Given the description of an element on the screen output the (x, y) to click on. 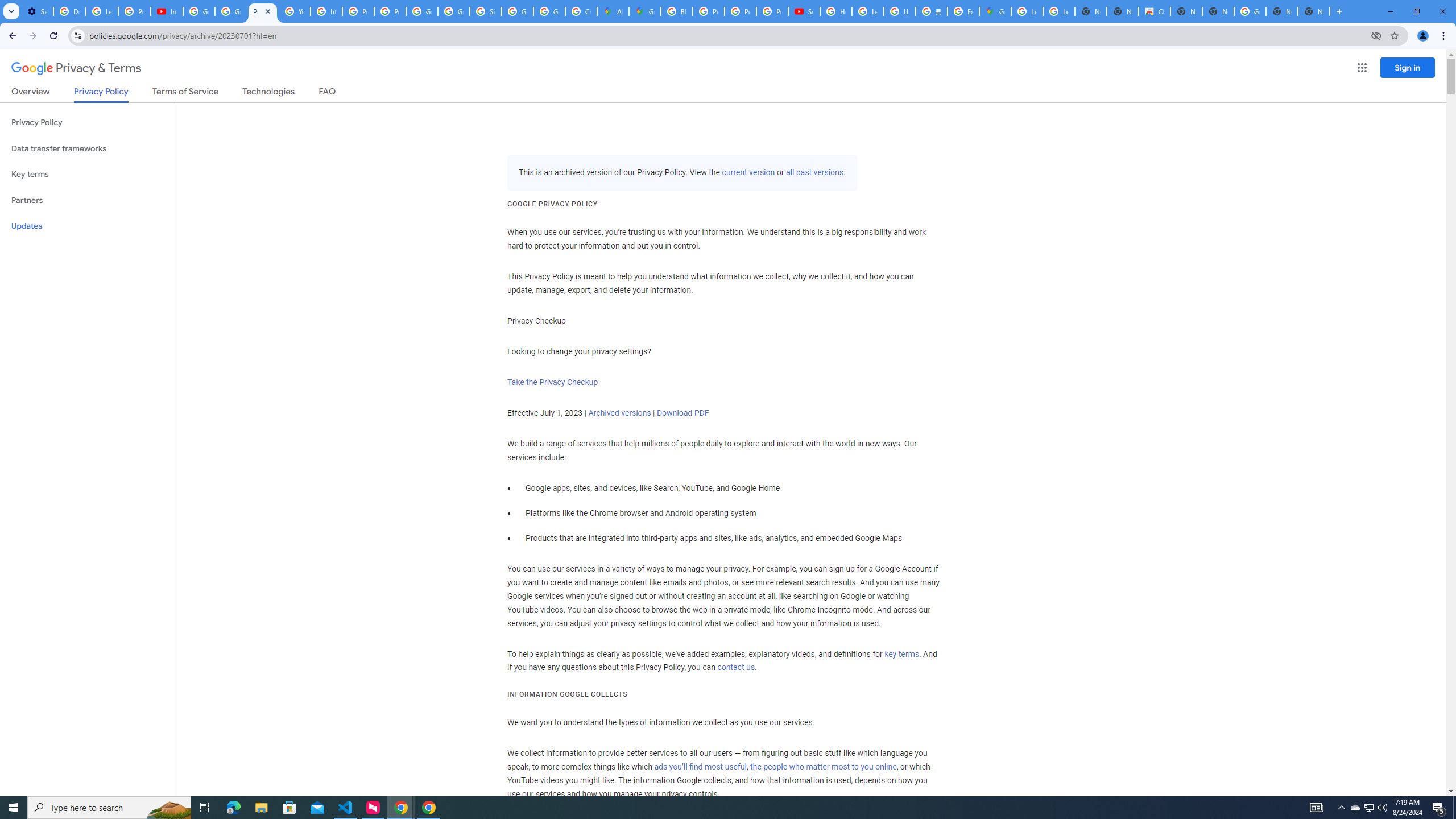
Introduction | Google Privacy Policy - YouTube (166, 11)
